Given the description of an element on the screen output the (x, y) to click on. 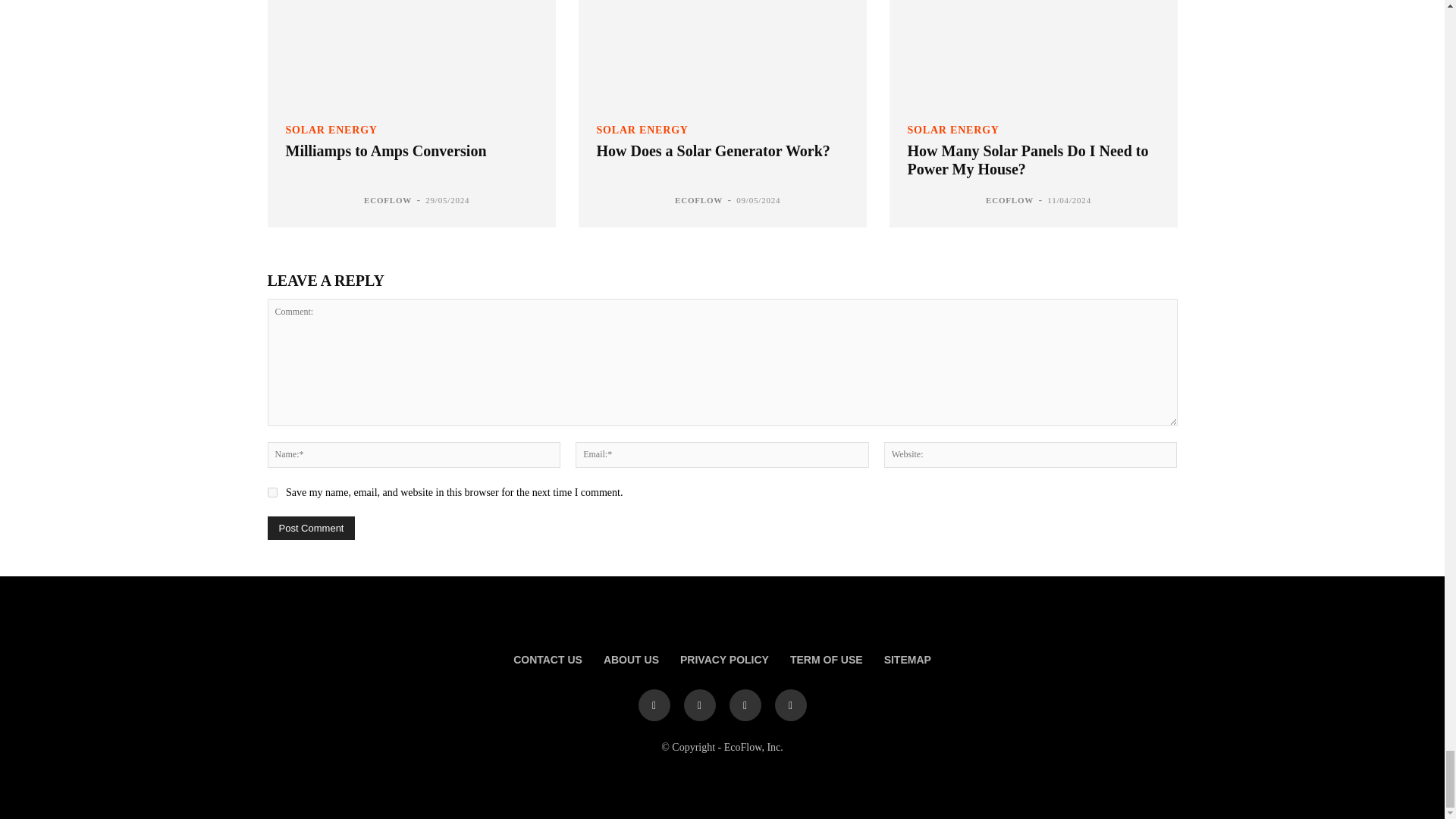
yes (271, 492)
Post Comment (310, 527)
